Given the description of an element on the screen output the (x, y) to click on. 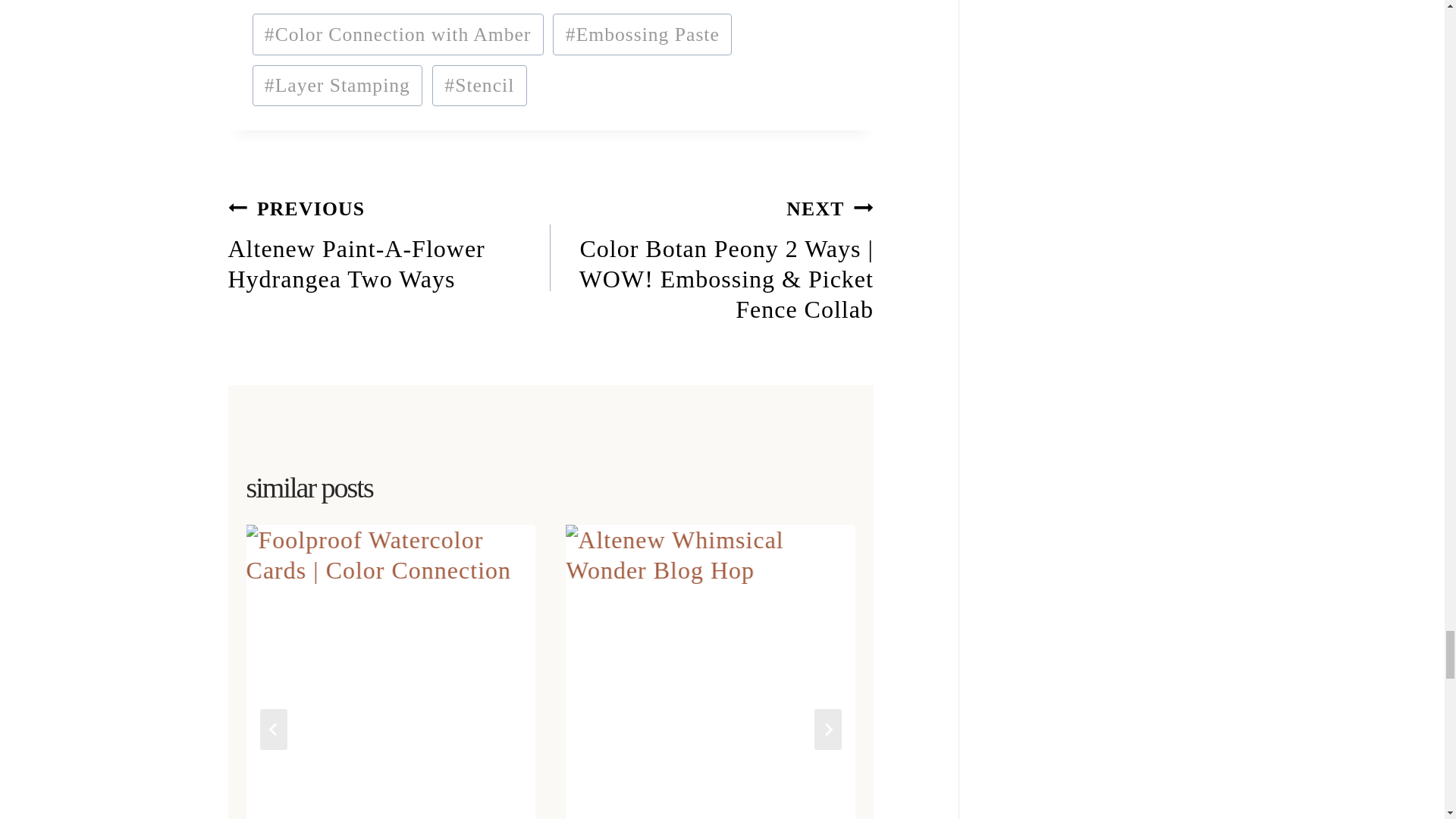
Layer Stamping (336, 85)
Embossing Paste (388, 242)
Stencil (642, 33)
Color Connection with Amber (479, 85)
